Given the description of an element on the screen output the (x, y) to click on. 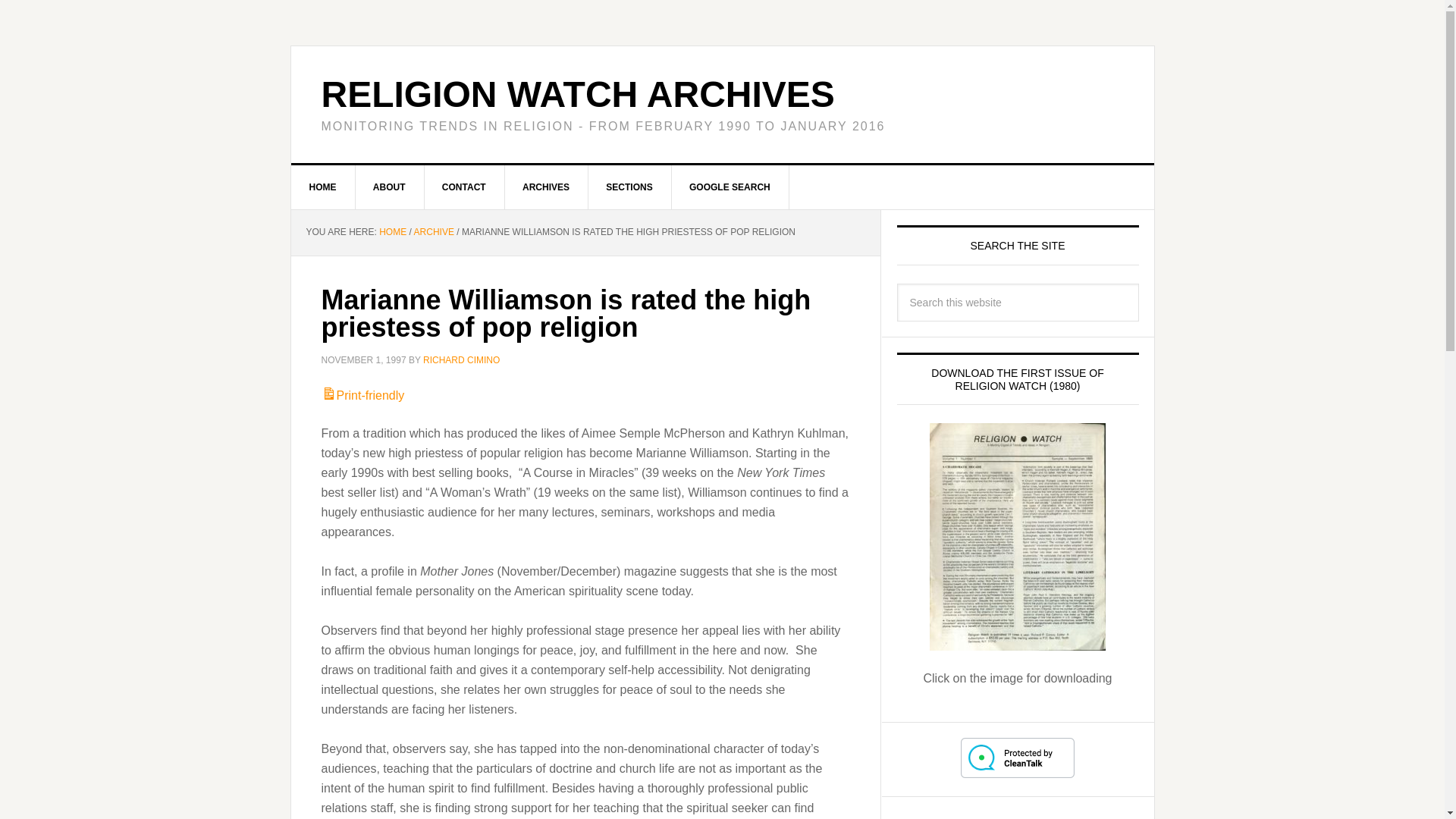
SECTIONS (629, 187)
CONTACT (464, 187)
RICHARD CIMINO (461, 359)
ARCHIVE (433, 231)
RELIGION WATCH ARCHIVES (577, 94)
ABOUT (390, 187)
HOME (323, 187)
HOME (392, 231)
ARCHIVES (545, 187)
GOOGLE SEARCH (730, 187)
Print-friendly (362, 395)
